Given the description of an element on the screen output the (x, y) to click on. 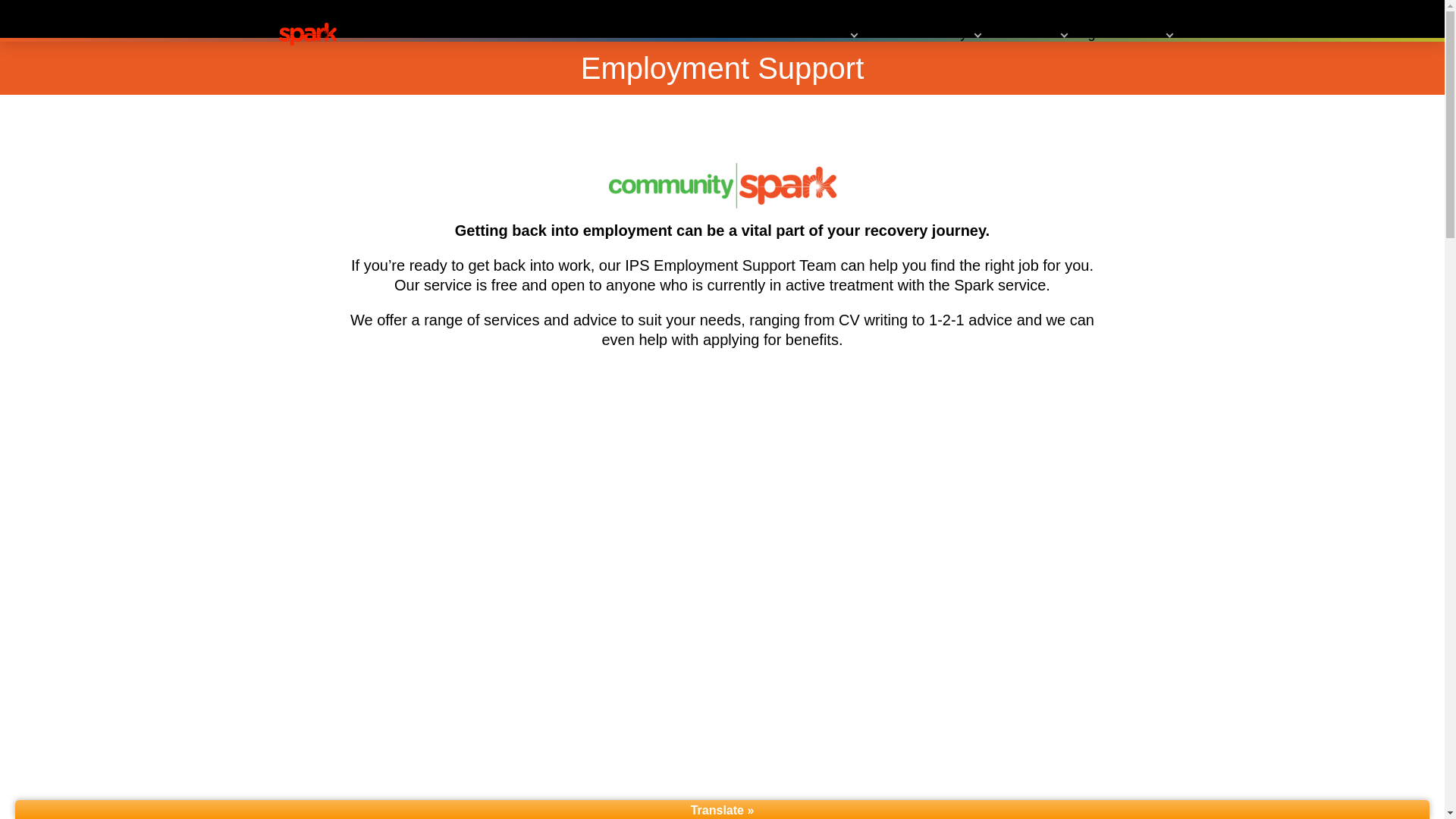
get in touch (1127, 33)
what we offer (808, 33)
our community (928, 33)
home (722, 33)
about us (1032, 33)
